Given the description of an element on the screen output the (x, y) to click on. 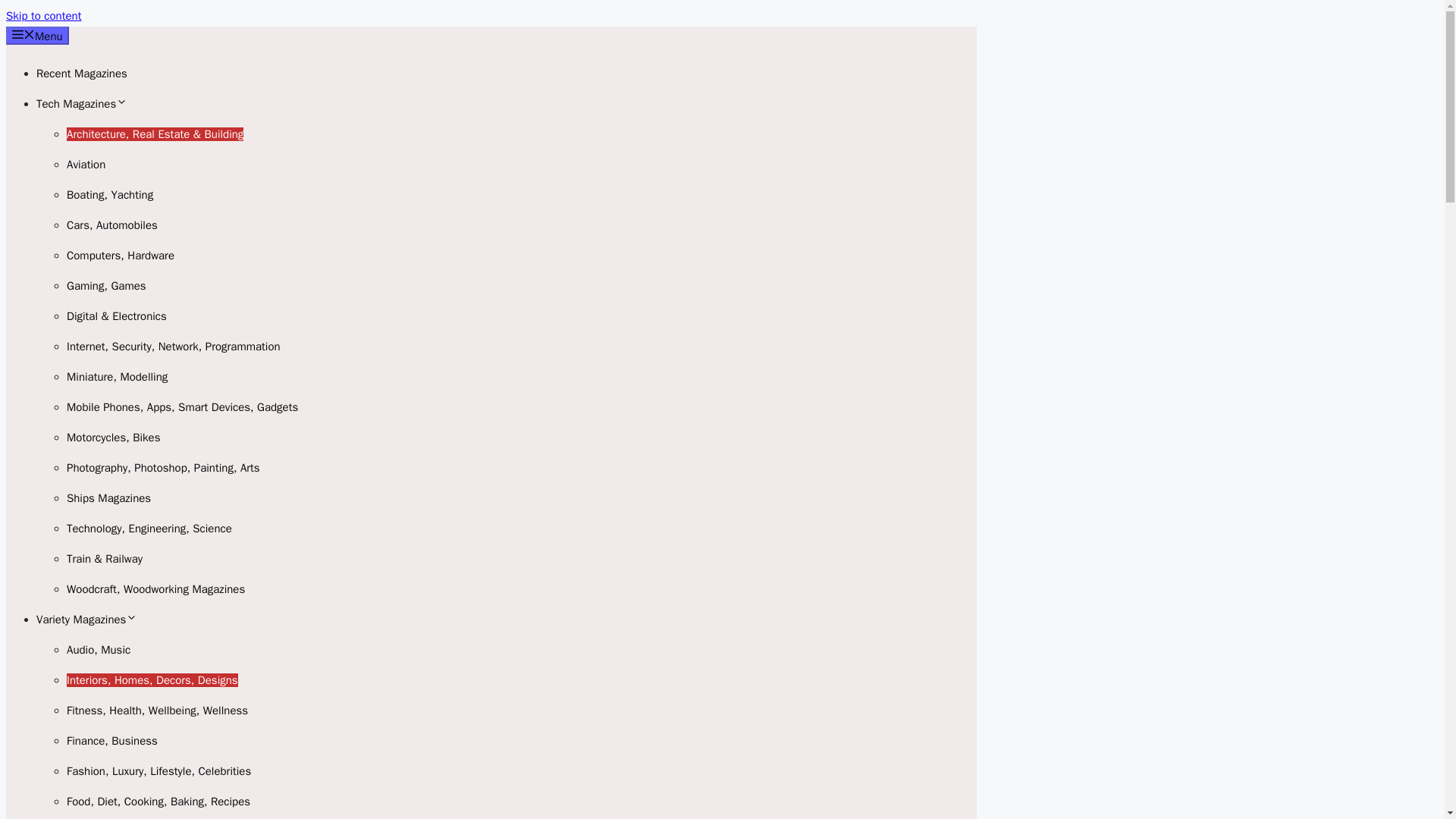
Recent Magazines (82, 73)
Aviation (85, 164)
Variety Magazines (86, 619)
Interiors, Homes, Decors, Designs (152, 680)
Skip to content (43, 15)
Miniature, Modelling (116, 377)
Finance, Business (111, 740)
Gaming, Games (106, 285)
Computers, Hardware (120, 255)
Mobile Phones, Apps, Smart Devices, Gadgets (182, 407)
Tech Magazines (82, 103)
Cars, Automobiles (111, 224)
Menu (36, 35)
Internet, Security, Network, Programmation (173, 345)
Boating, Yachting (109, 194)
